Given the description of an element on the screen output the (x, y) to click on. 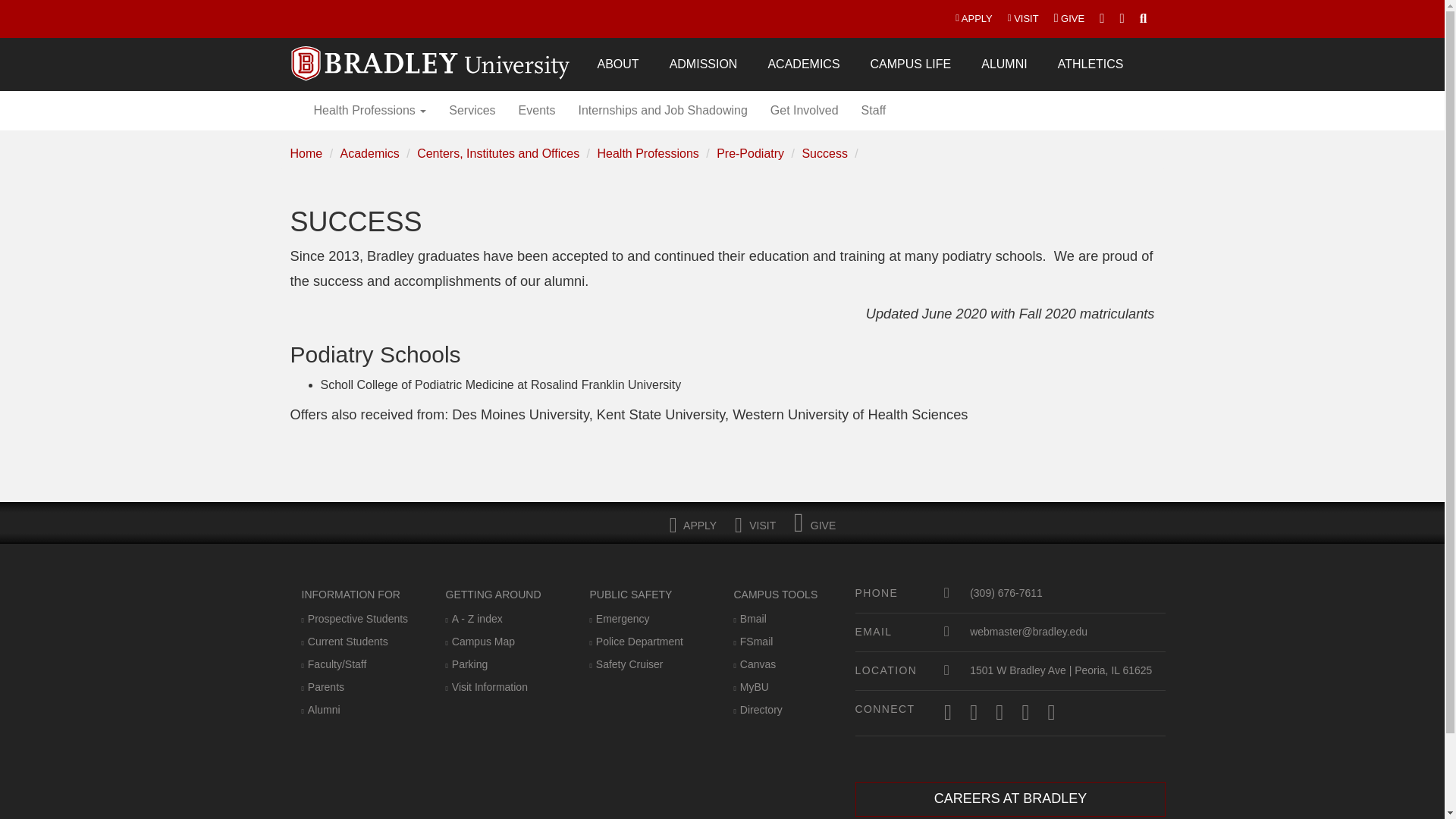
APPLY (973, 18)
Bradley University (430, 53)
VISIT (1023, 18)
GIVE (1069, 18)
Bradley University (430, 53)
